Given the description of an element on the screen output the (x, y) to click on. 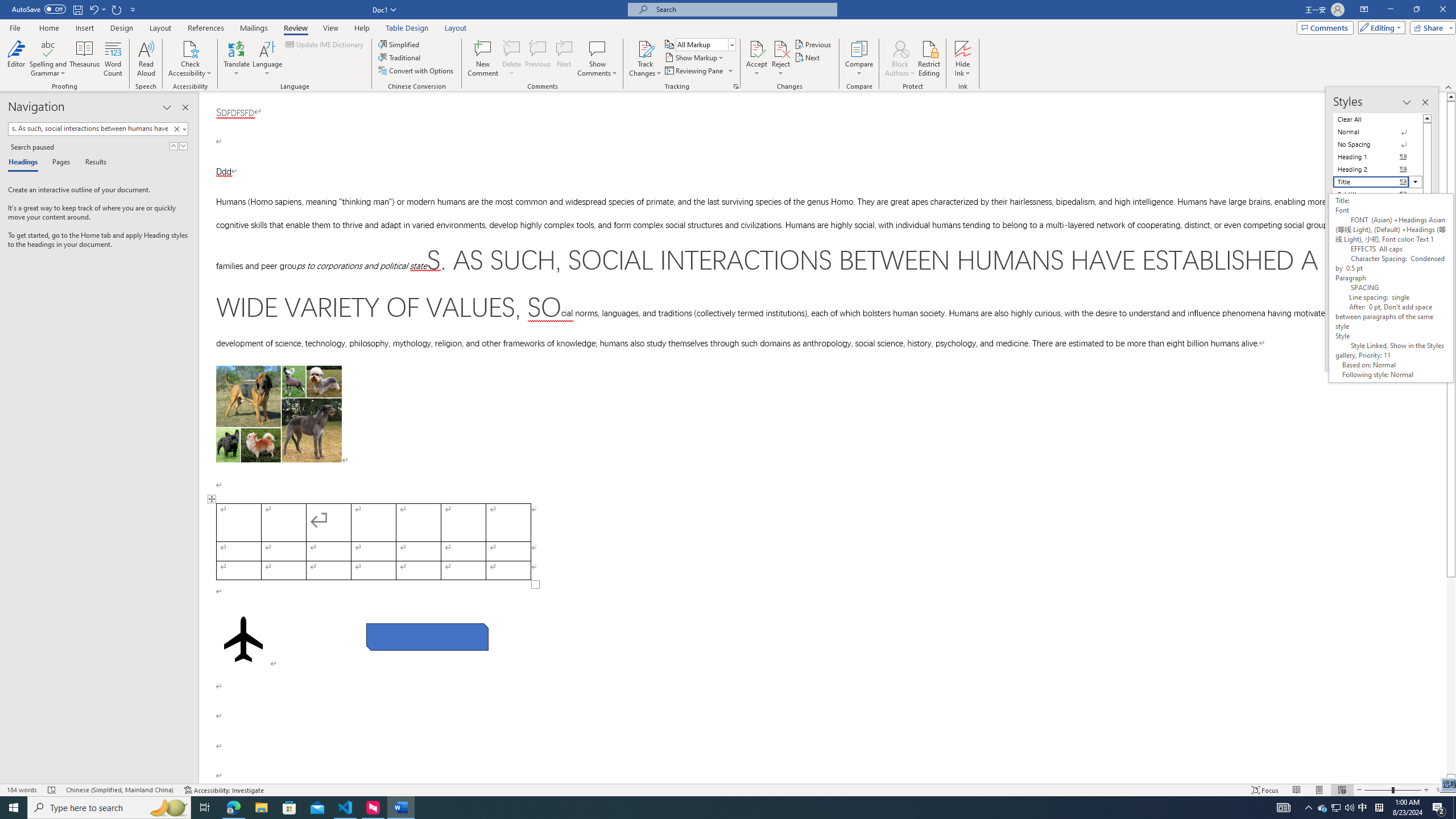
Update IME Dictionary... (324, 44)
Block Authors (900, 58)
Subtle Emphasis (1377, 206)
Next (808, 56)
Clear (176, 128)
Reject and Move to Next (780, 48)
Show Comments (597, 58)
Reviewing Pane (694, 69)
